Given the description of an element on the screen output the (x, y) to click on. 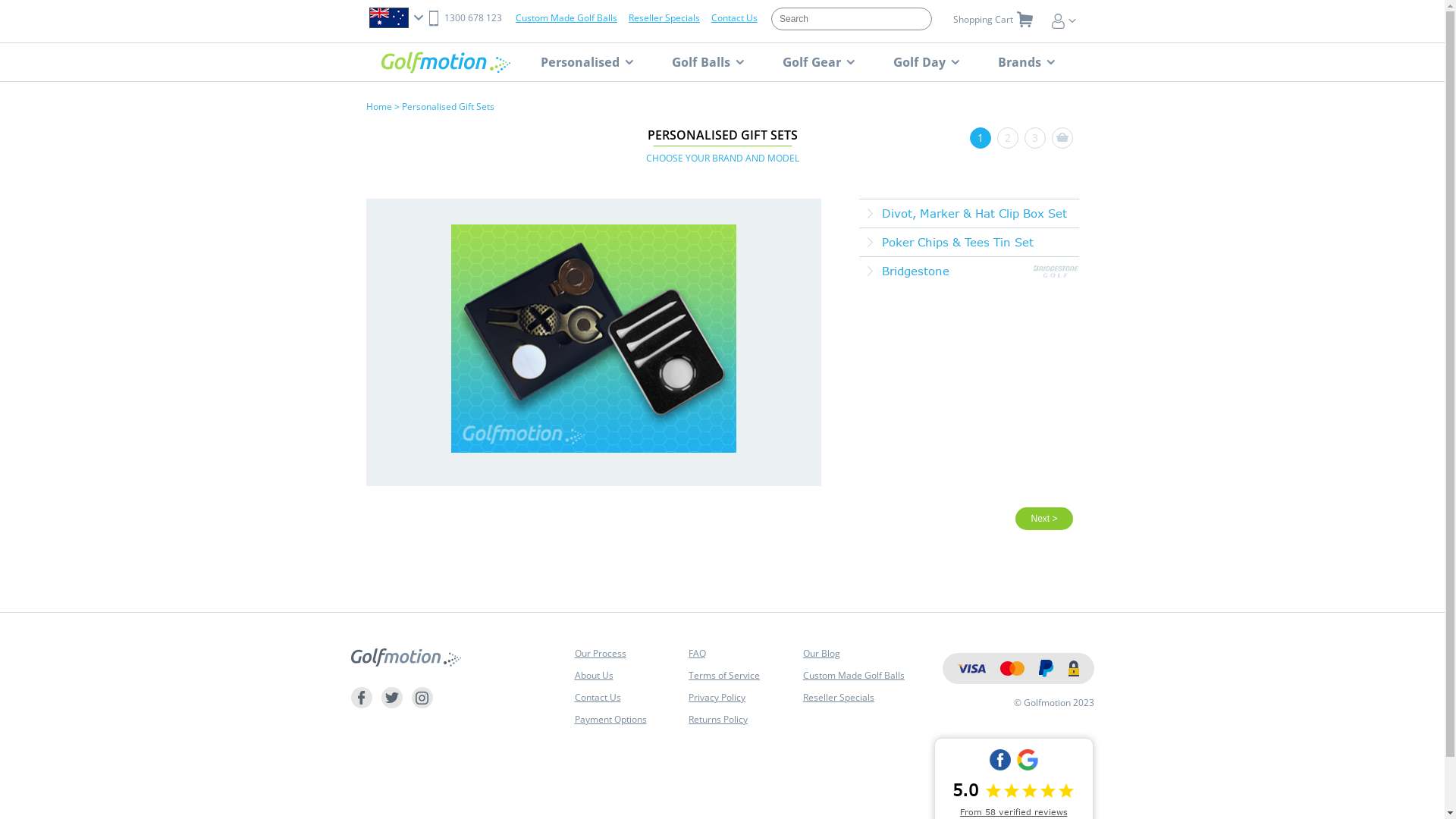
Contact Us Element type: text (734, 17)
Golf Balls Element type: text (707, 61)
Privacy Policy Element type: text (716, 696)
Our Blog Element type: text (821, 652)
Contact Us Element type: text (597, 696)
Instagram Element type: text (421, 697)
Home Element type: text (378, 106)
Payment Options Element type: text (610, 718)
Our Process Element type: text (600, 652)
Golf Gear Element type: text (818, 61)
Custom Made Golf Balls Element type: text (853, 674)
Personalised Element type: text (585, 61)
FAQ Element type: text (697, 652)
Custom Made Golf Balls Element type: text (566, 17)
Reseller Specials Element type: text (663, 17)
Next > Element type: text (1043, 518)
Logo Element type: text (444, 61)
Go Element type: text (21, 11)
Twitter Element type: text (390, 697)
Facebook Element type: text (360, 697)
Shopping Cart Element type: text (991, 20)
Enter the terms you wish to search for. Element type: hover (851, 18)
Golf Day Element type: text (926, 61)
Brands Element type: text (1025, 61)
Returns Policy Element type: text (717, 718)
Reseller Specials Element type: text (838, 696)
Terms of Service Element type: text (723, 674)
About Us Element type: text (593, 674)
